Given the description of an element on the screen output the (x, y) to click on. 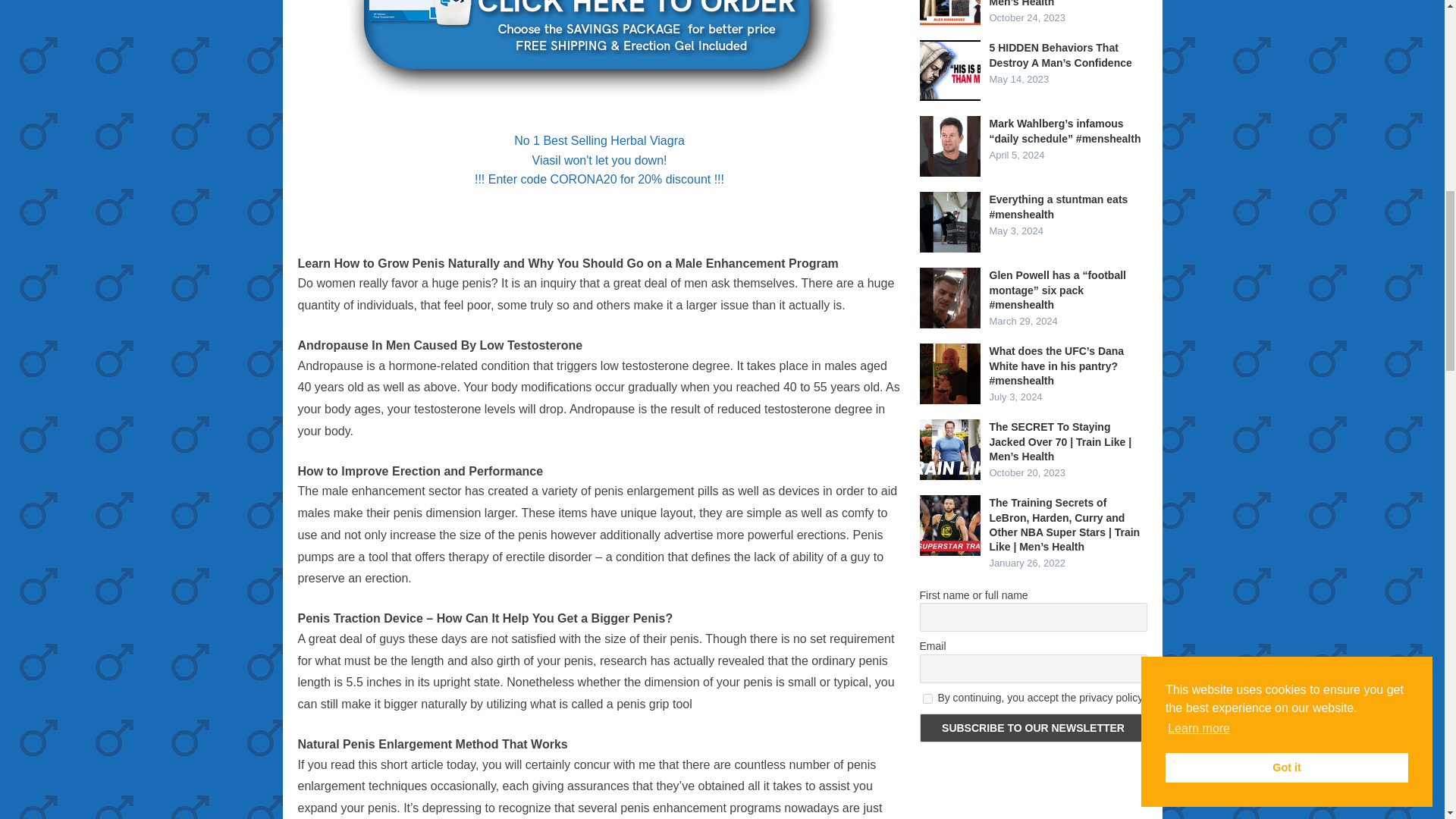
No 1 Best Selling Herbal Viagra (598, 140)
Viasil won't let you down! (599, 160)
on (926, 698)
5 HIDDEN Behaviors That Destroy A Man's Confidence 16 (948, 70)
Subscribe to our Newsletter (1032, 727)
